Given the description of an element on the screen output the (x, y) to click on. 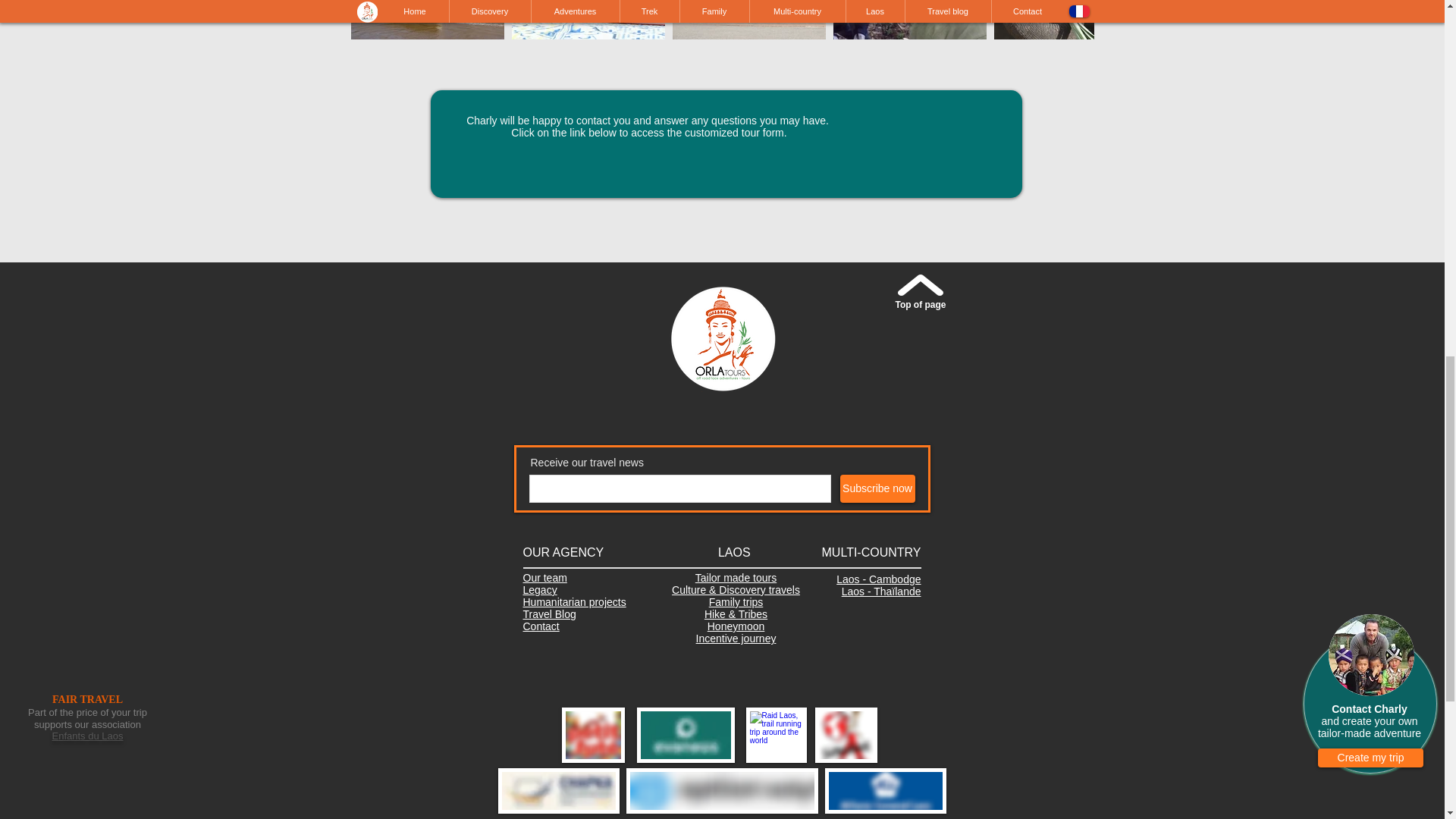
Raid Laos, trail running trip around the world (775, 734)
Option Way - flights to Laos - ORLA Tours Laos (722, 791)
Allianz General Laos, insurance in Laos (885, 791)
Chapka Insurance, travel insurance, Laos (557, 791)
Evaneos, travel with a local agency (686, 734)
Guide du Routard, travel in Laos (844, 734)
